Given the description of an element on the screen output the (x, y) to click on. 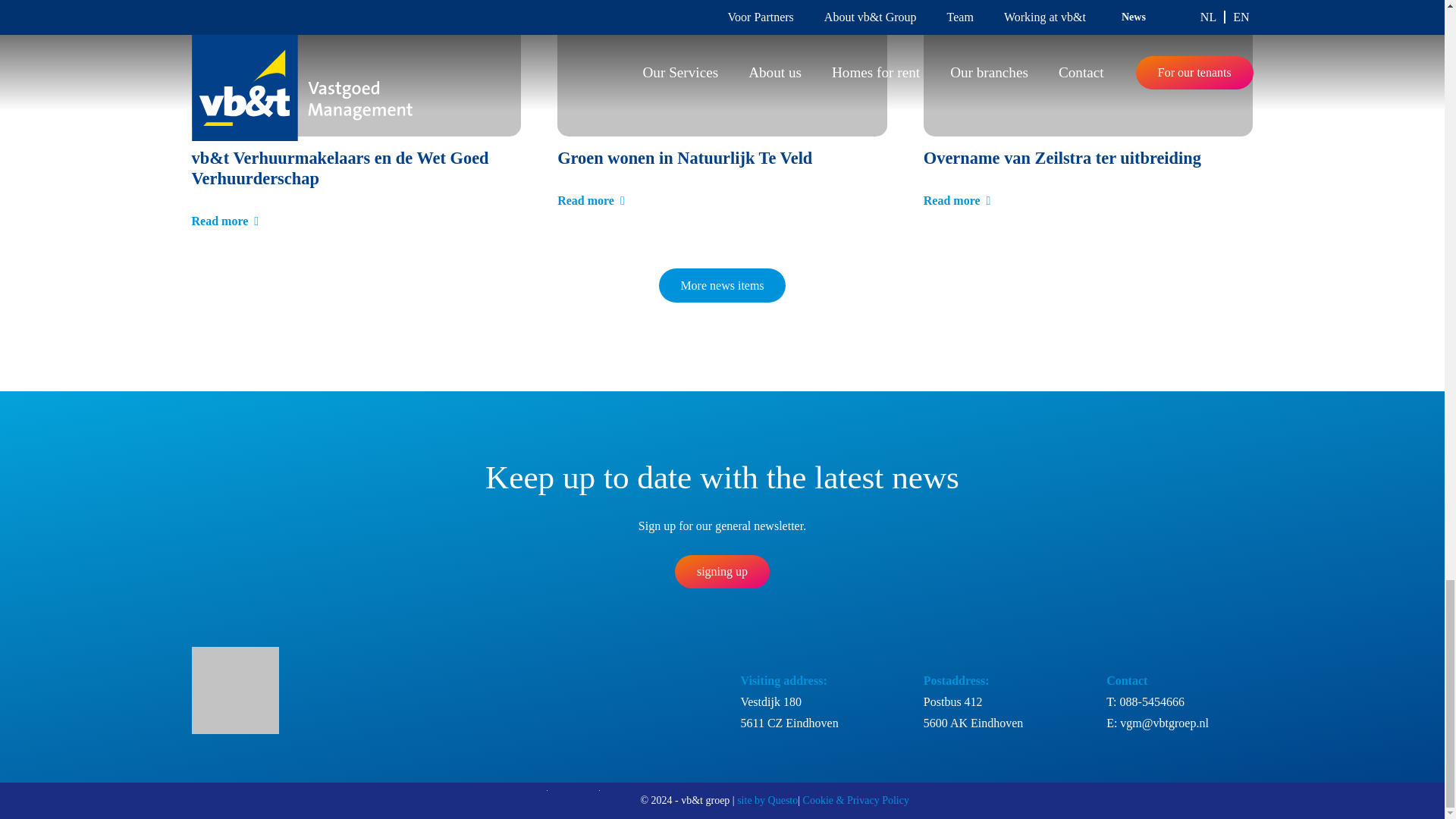
signing up (722, 571)
Read more (224, 220)
Read more (590, 200)
Groen wonen in Natuurlijk Te Veld (684, 157)
